Given the description of an element on the screen output the (x, y) to click on. 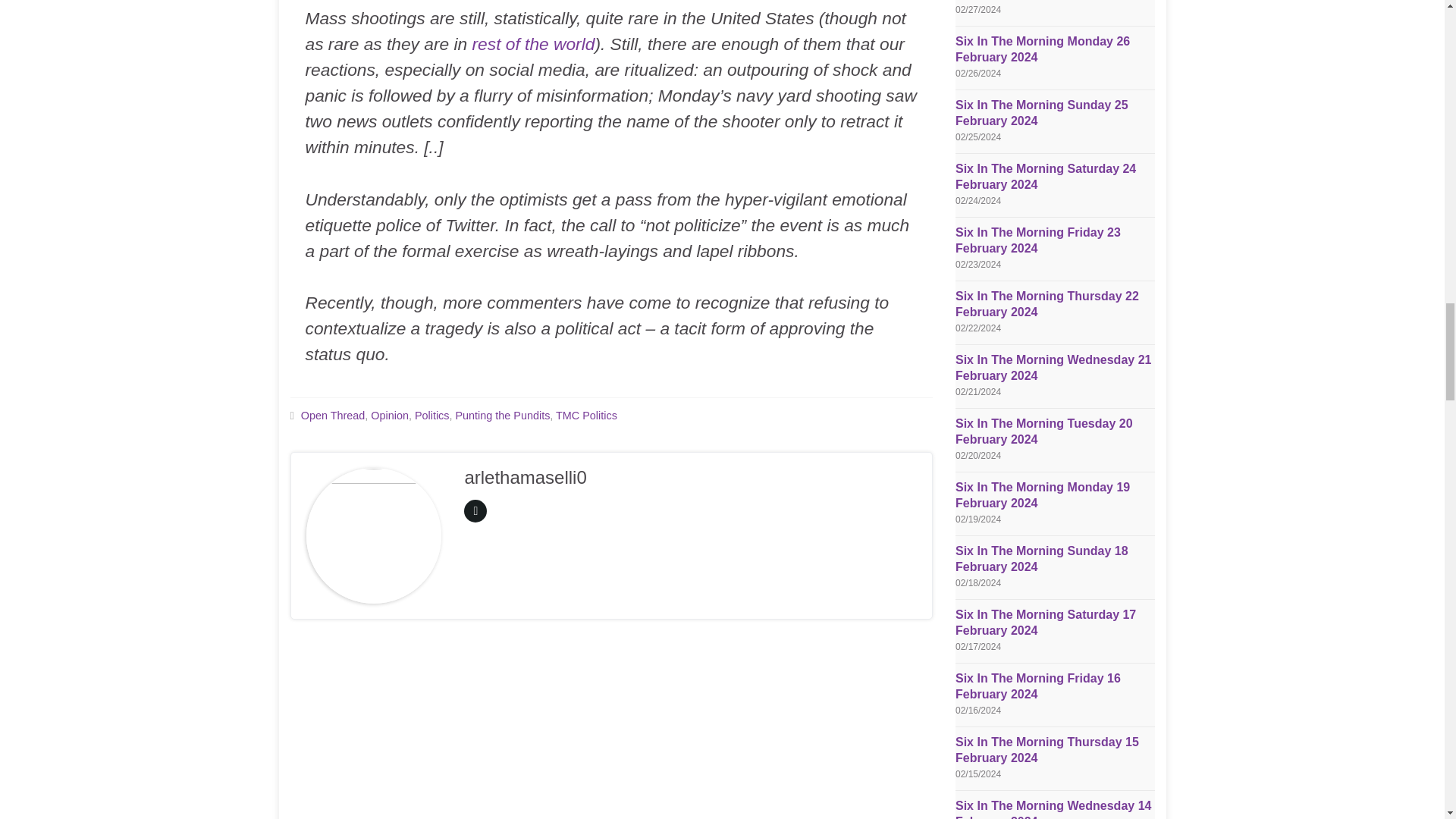
rest of the world (533, 44)
Opinion (390, 415)
TMC Politics (586, 415)
Politics (431, 415)
Open Thread (333, 415)
Punting the Pundits (502, 415)
